Given the description of an element on the screen output the (x, y) to click on. 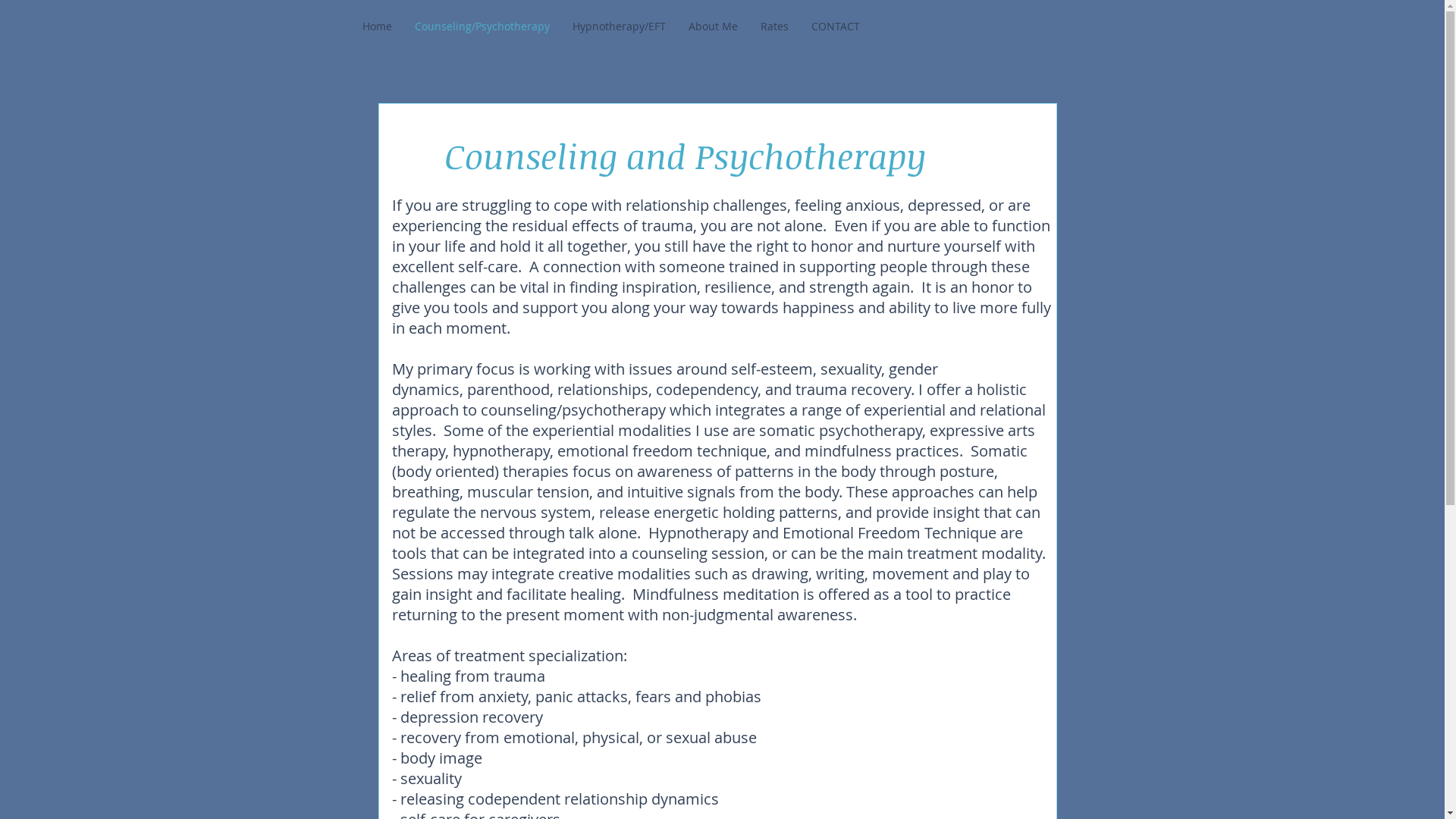
About Me Element type: text (712, 26)
Hypnotherapy/EFT Element type: text (619, 26)
Rates Element type: text (774, 26)
Counseling/Psychotherapy Element type: text (482, 26)
CONTACT Element type: text (834, 26)
Home Element type: text (376, 26)
